Given the description of an element on the screen output the (x, y) to click on. 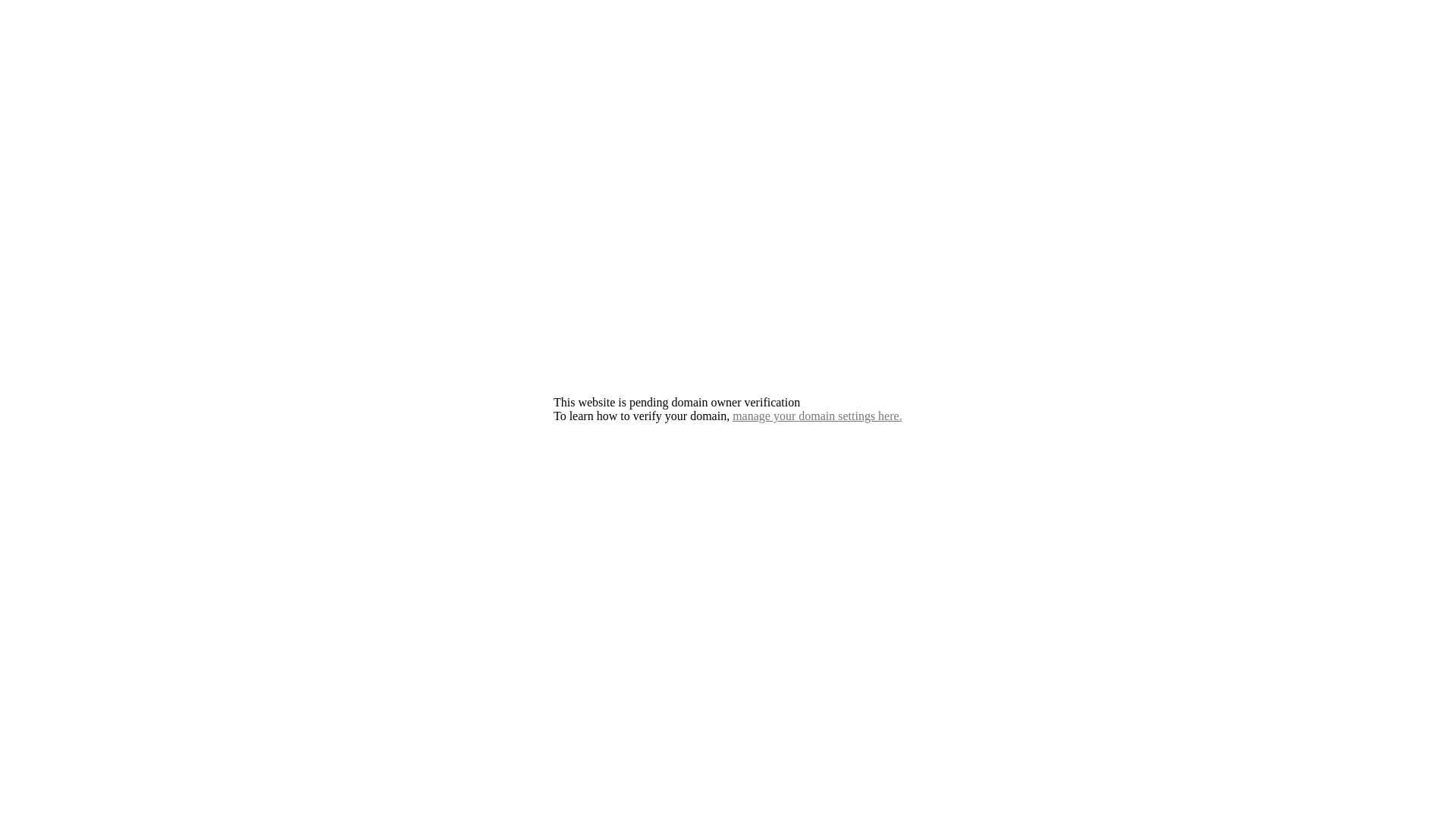
manage your domain settings here. Element type: text (817, 415)
